Given the description of an element on the screen output the (x, y) to click on. 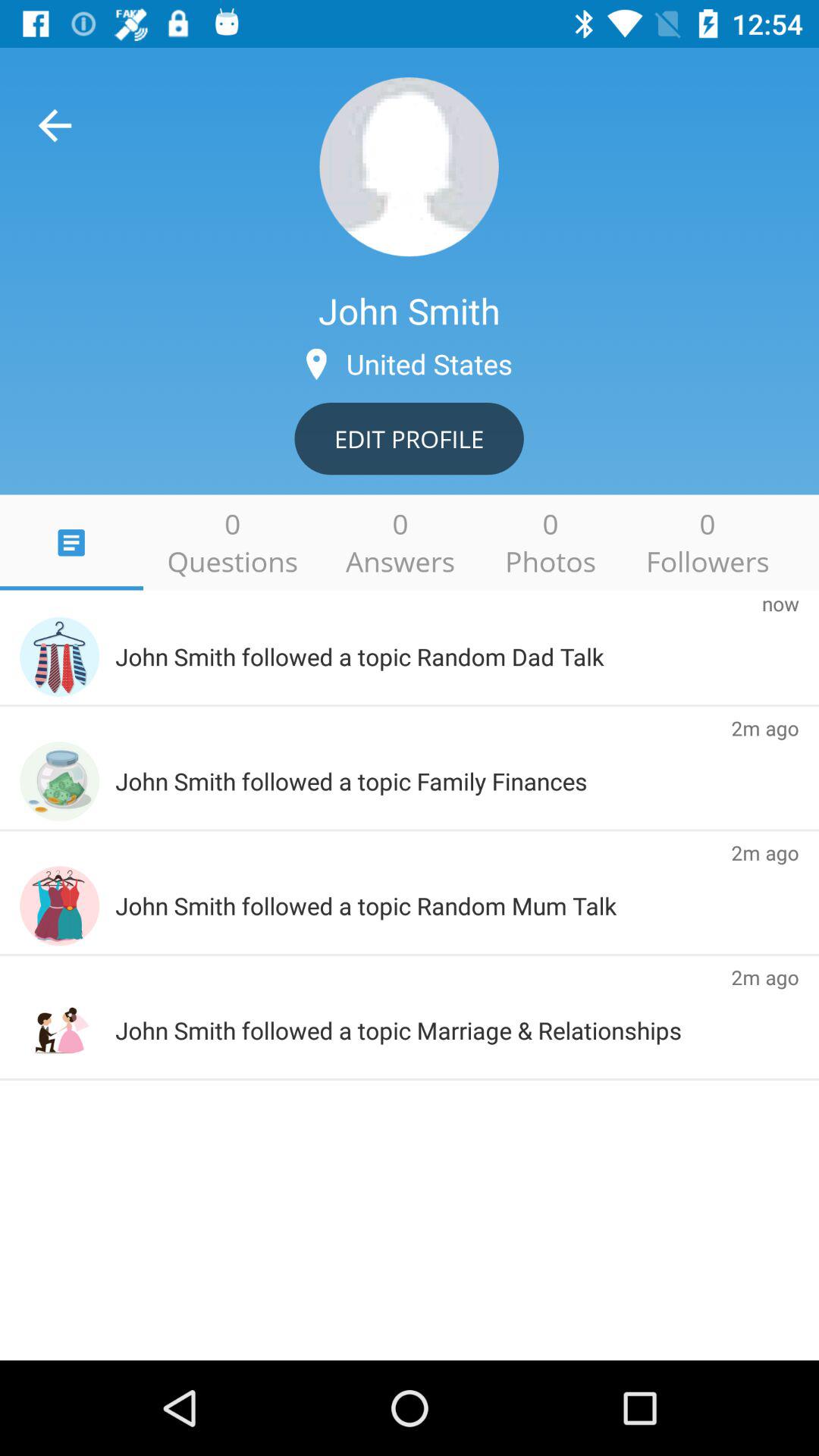
open the item below united states (408, 438)
